Given the description of an element on the screen output the (x, y) to click on. 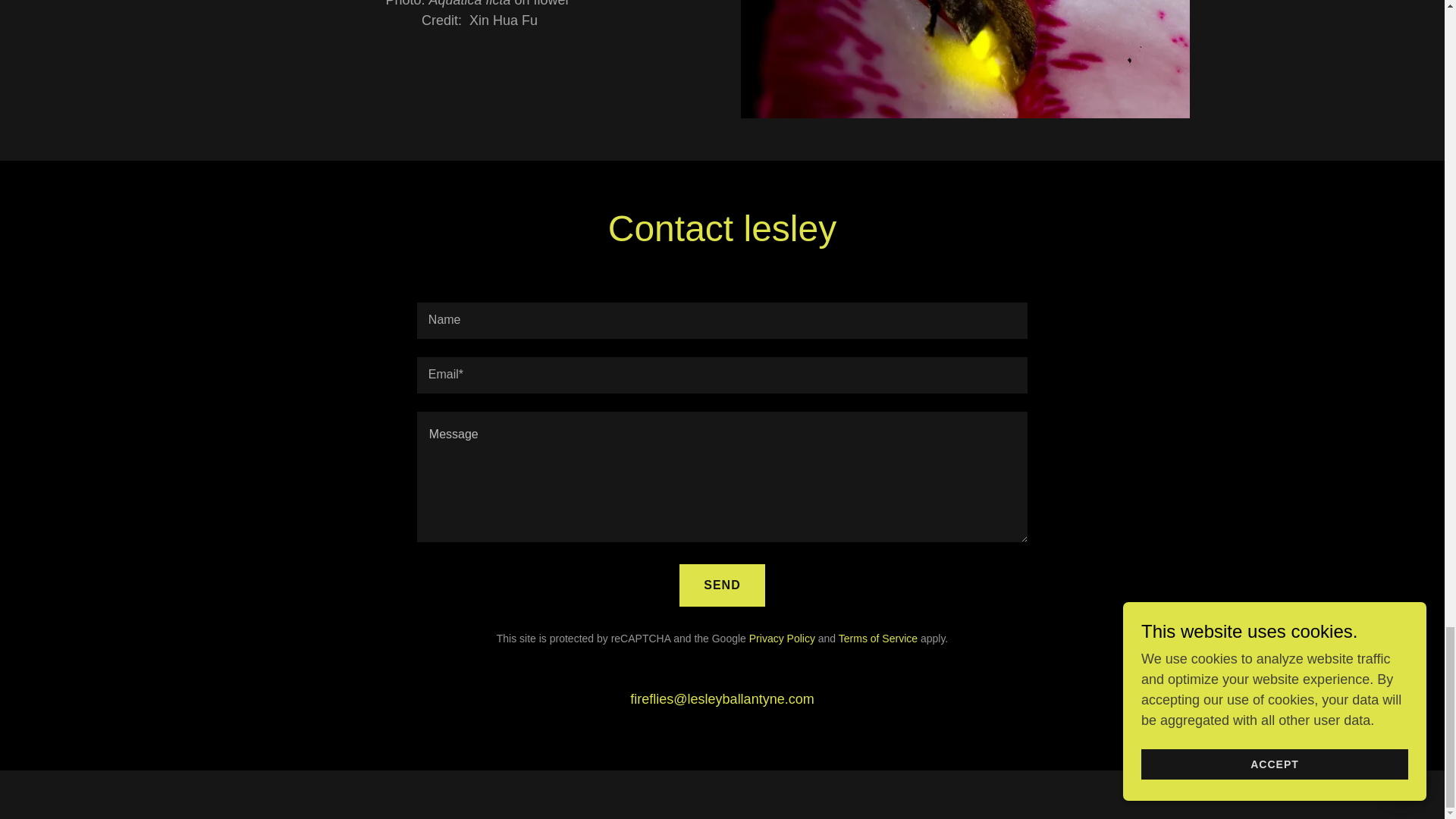
Privacy Policy (782, 638)
SEND (721, 585)
Terms of Service (877, 638)
